Given the description of an element on the screen output the (x, y) to click on. 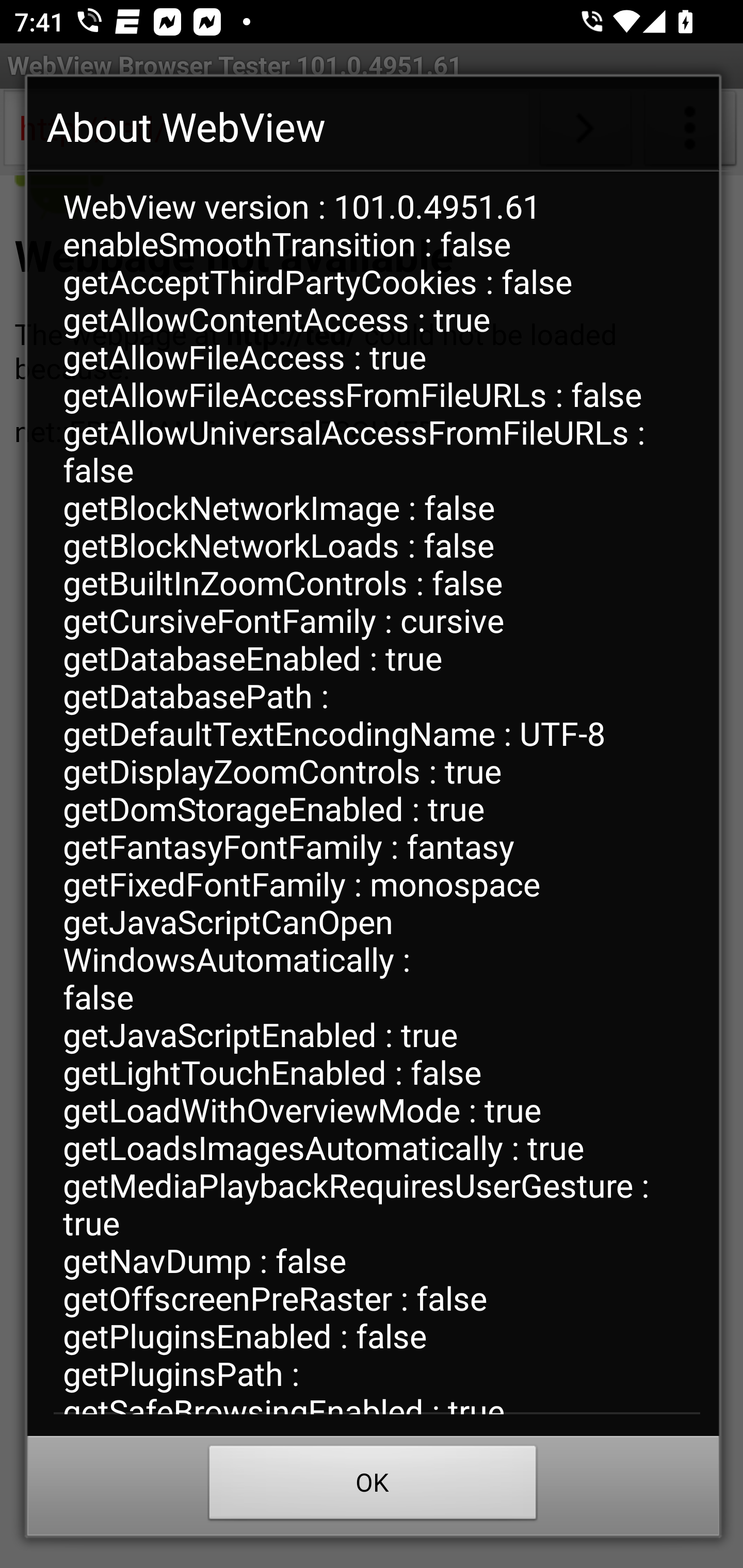
OK (372, 1486)
